Given the description of an element on the screen output the (x, y) to click on. 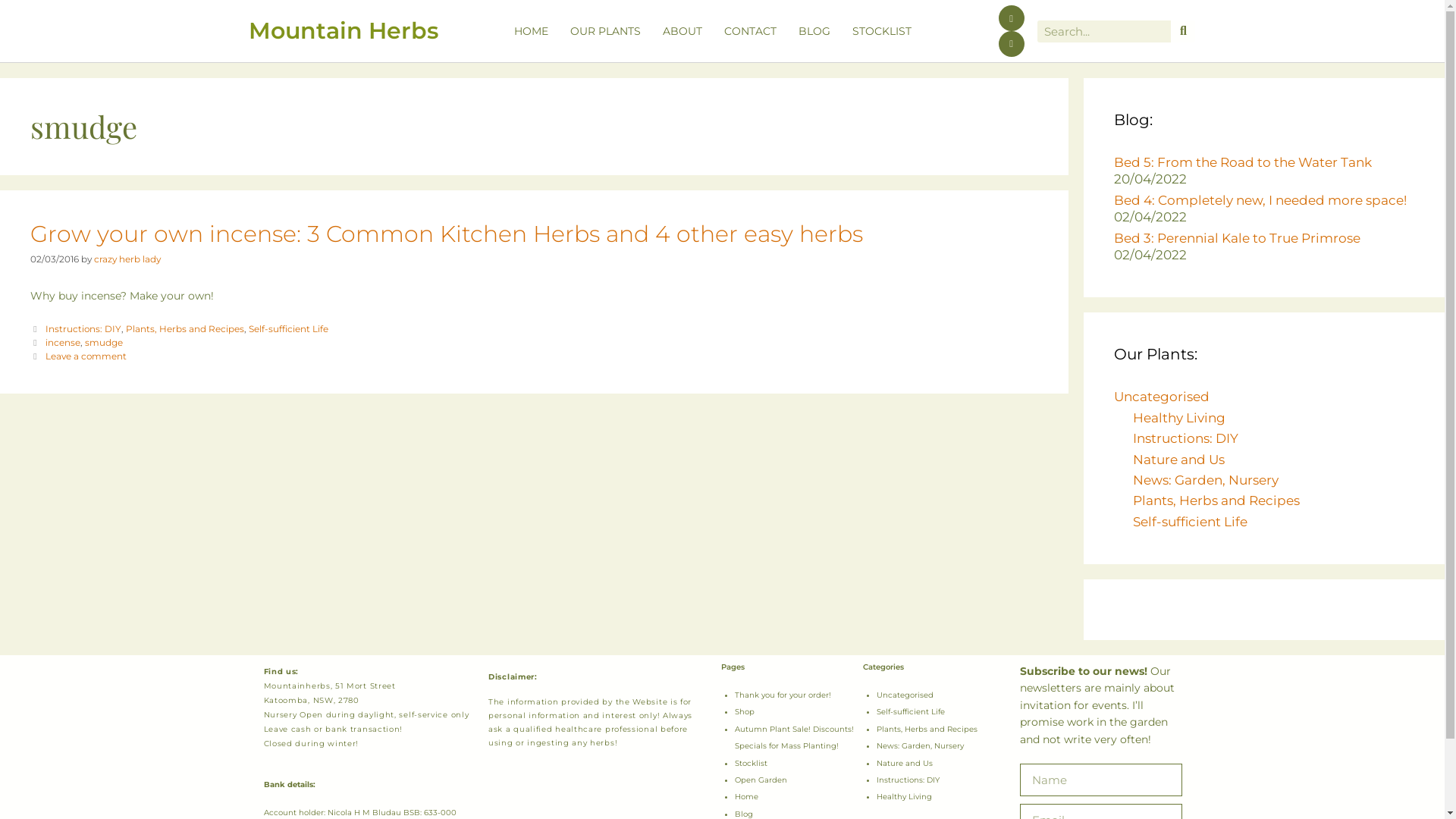
Nature and Us Element type: text (1178, 459)
News: Garden, Nursery Element type: text (1205, 479)
Healthy Living Element type: text (903, 796)
Open Garden Element type: text (760, 779)
Instructions: DIY Element type: text (83, 328)
incense Element type: text (62, 342)
Bed 4: Completely new, I needed more space! Element type: text (1259, 199)
Mountain Herbs Element type: text (343, 30)
Leave a comment Element type: text (85, 355)
Search Element type: hover (1182, 30)
News: Garden, Nursery Element type: text (919, 745)
Thank you for your order! Element type: text (782, 694)
Nature and Us Element type: text (904, 763)
Uncategorised Element type: text (1161, 396)
Healthy Living Element type: text (1178, 417)
Self-sufficient Life Element type: text (1189, 521)
CONTACT Element type: text (750, 31)
Self-sufficient Life Element type: text (288, 328)
Stocklist Element type: text (750, 763)
Self-sufficient Life Element type: text (910, 711)
Uncategorised Element type: text (904, 694)
Home Element type: text (745, 796)
Bed 3: Perennial Kale to True Primrose Element type: text (1236, 237)
crazy herb lady Element type: text (127, 258)
Plants, Herbs and Recipes Element type: text (926, 729)
HOME Element type: text (531, 31)
smudge Element type: text (103, 342)
Instructions: DIY Element type: text (907, 779)
ABOUT Element type: text (682, 31)
OUR PLANTS Element type: text (605, 31)
Shop Element type: text (743, 711)
Search Element type: hover (1104, 30)
Plants, Herbs and Recipes Element type: text (1215, 500)
Instructions: DIY Element type: text (1185, 437)
Autumn Plant Sale! Discounts! Specials for Mass Planting! Element type: text (793, 737)
Bed 5: From the Road to the Water Tank Element type: text (1242, 161)
BLOG Element type: text (814, 31)
Plants, Herbs and Recipes Element type: text (184, 328)
STOCKLIST Element type: text (881, 31)
